Given the description of an element on the screen output the (x, y) to click on. 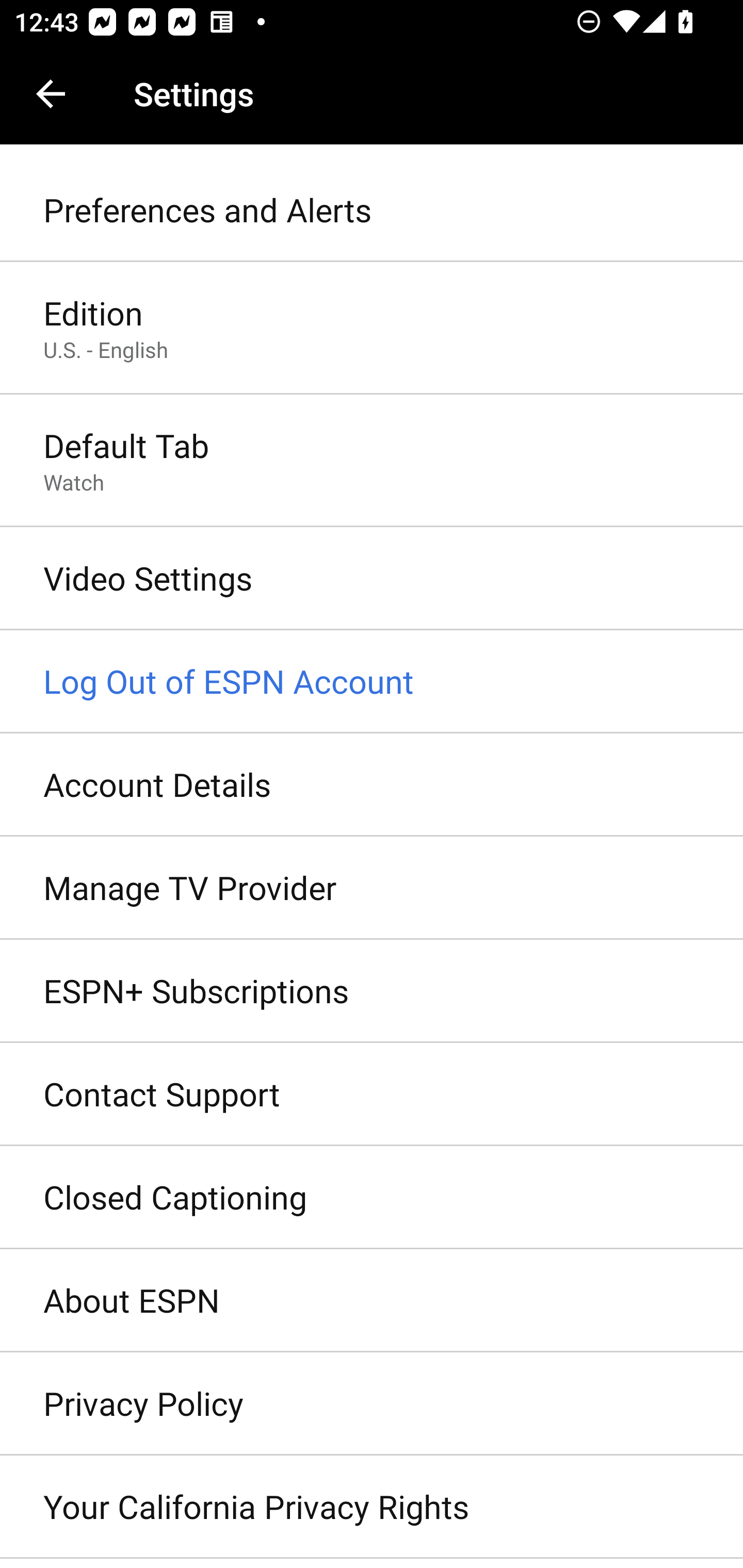
Navigate up (50, 93)
Preferences and Alerts (371, 209)
Edition U.S. - English (371, 328)
Default Tab Watch (371, 461)
Video Settings (371, 578)
Log Out of ESPN Account (371, 681)
Account Details (371, 785)
Manage TV Provider (371, 888)
ESPN+ Subscriptions (371, 990)
Contact Support (371, 1094)
Closed Captioning (371, 1197)
About ESPN (371, 1301)
Privacy Policy (371, 1403)
Your California Privacy Rights (371, 1506)
